Given the description of an element on the screen output the (x, y) to click on. 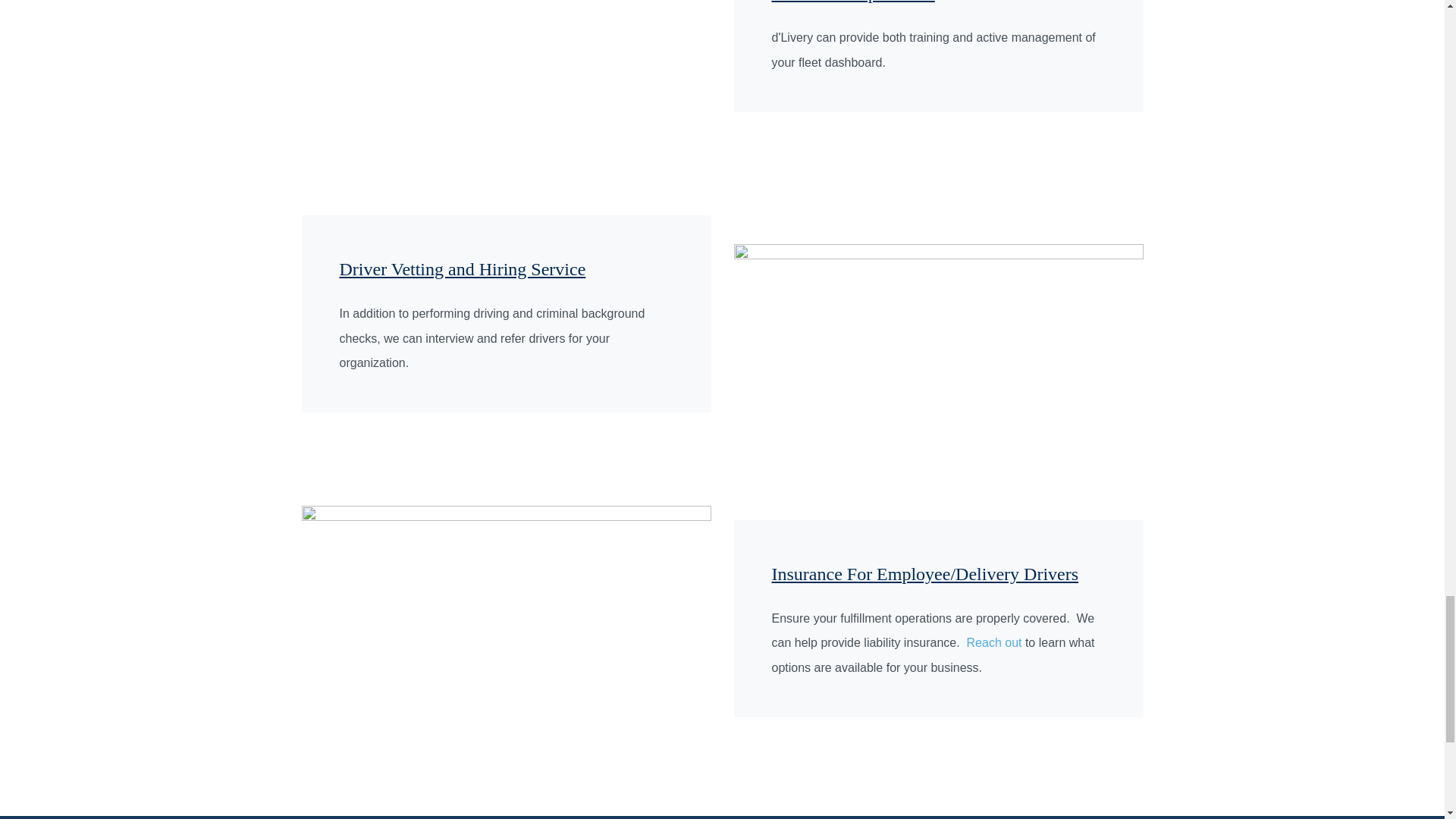
Reach out (994, 642)
Reach out (994, 642)
